Given the description of an element on the screen output the (x, y) to click on. 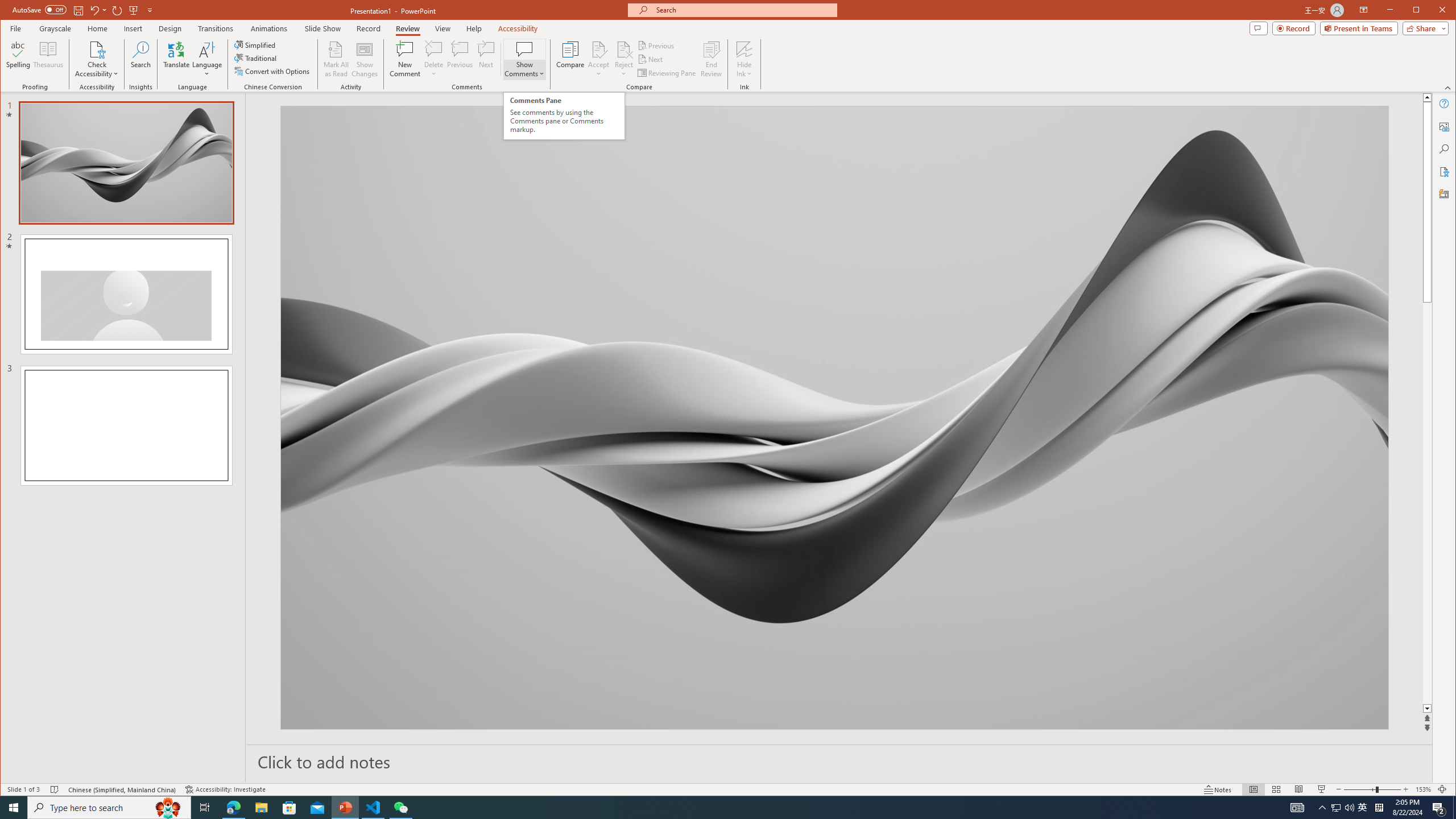
Microsoft Store (289, 807)
Page down (1427, 503)
Search highlights icon opens search home window (167, 807)
